Given the description of an element on the screen output the (x, y) to click on. 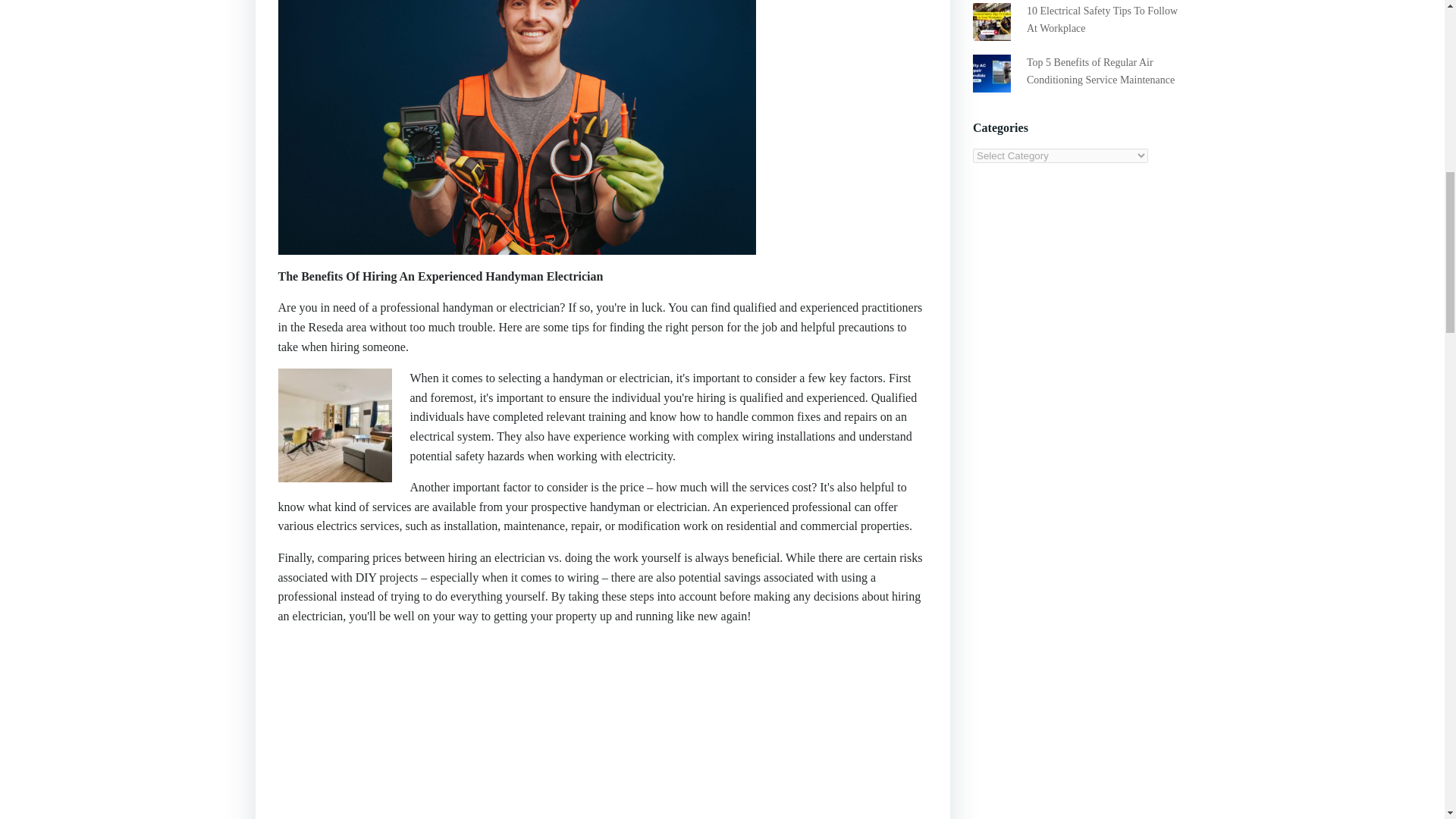
10 Electrical Safety Tips To Follow At Workplace (1101, 18)
